Given the description of an element on the screen output the (x, y) to click on. 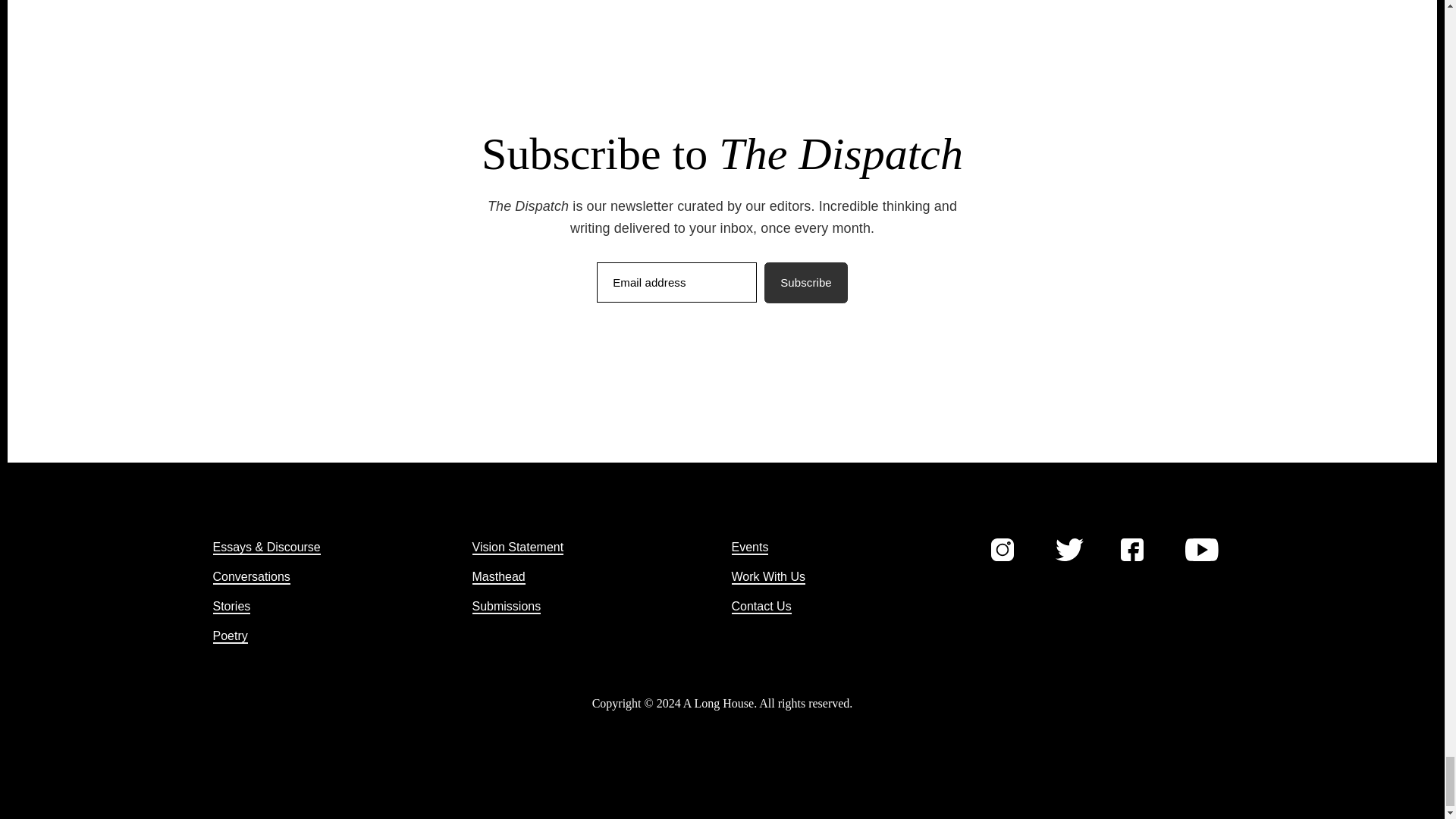
004-youtube Created with Sketch. (1201, 549)
001-twitter Created with Sketch. (1069, 549)
002-facebook Created with Sketch. (1131, 549)
003-instagram Created with Sketch. (1001, 549)
